Given the description of an element on the screen output the (x, y) to click on. 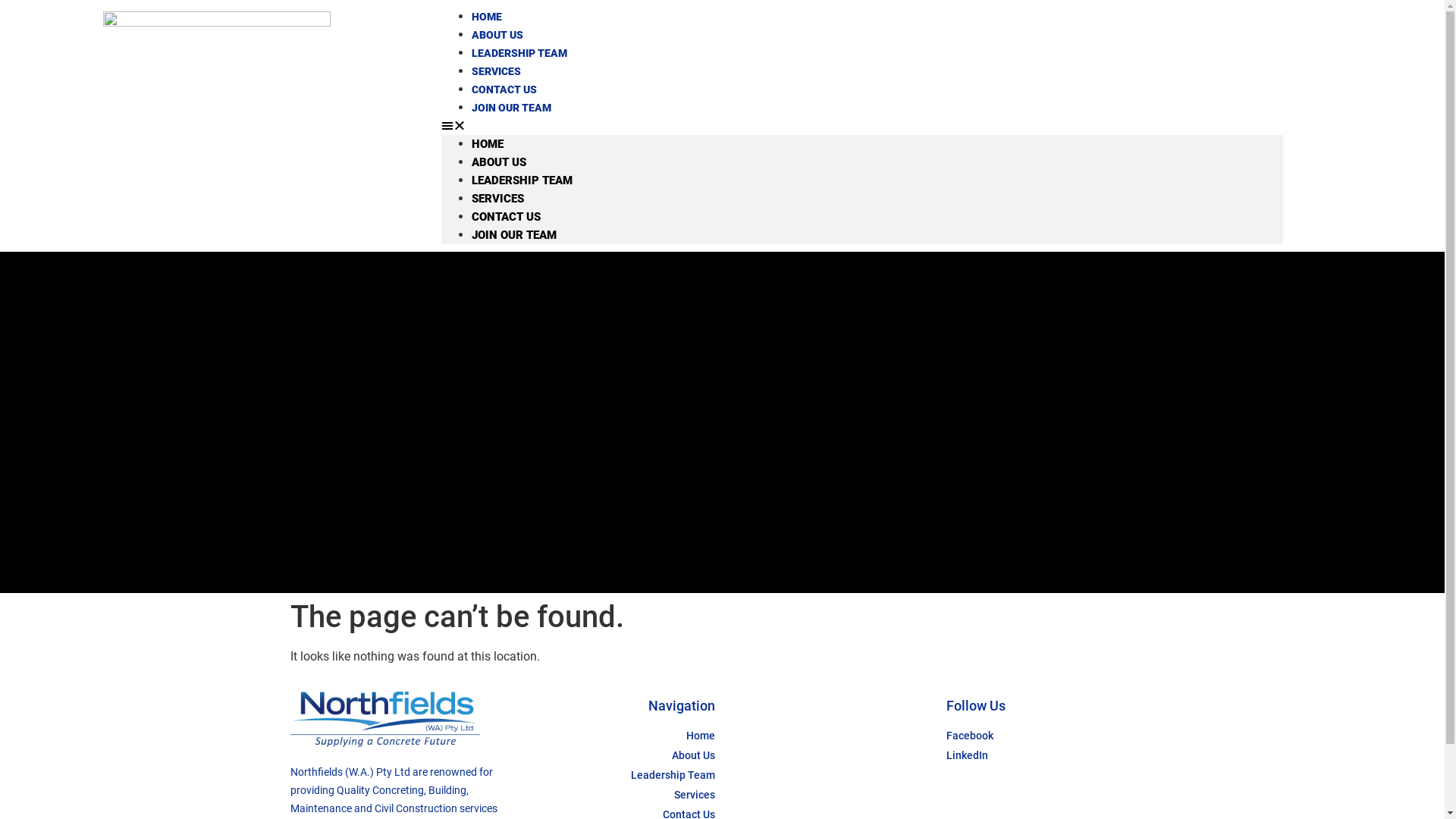
CONTACT US Element type: text (505, 216)
Home Element type: text (614, 735)
Services Element type: text (614, 795)
JOIN OUR TEAM Element type: text (511, 107)
ABOUT US Element type: text (497, 34)
HOME Element type: text (487, 143)
LEADERSHIP TEAM Element type: text (519, 52)
Leadership Team Element type: text (614, 775)
Facebook Element type: text (1046, 735)
LinkedIn Element type: text (1046, 755)
SERVICES Element type: text (497, 198)
ABOUT US Element type: text (498, 162)
LEADERSHIP TEAM Element type: text (521, 180)
JOIN OUR TEAM Element type: text (513, 234)
CONTACT US Element type: text (503, 89)
About Us Element type: text (614, 755)
SERVICES Element type: text (495, 70)
